Given the description of an element on the screen output the (x, y) to click on. 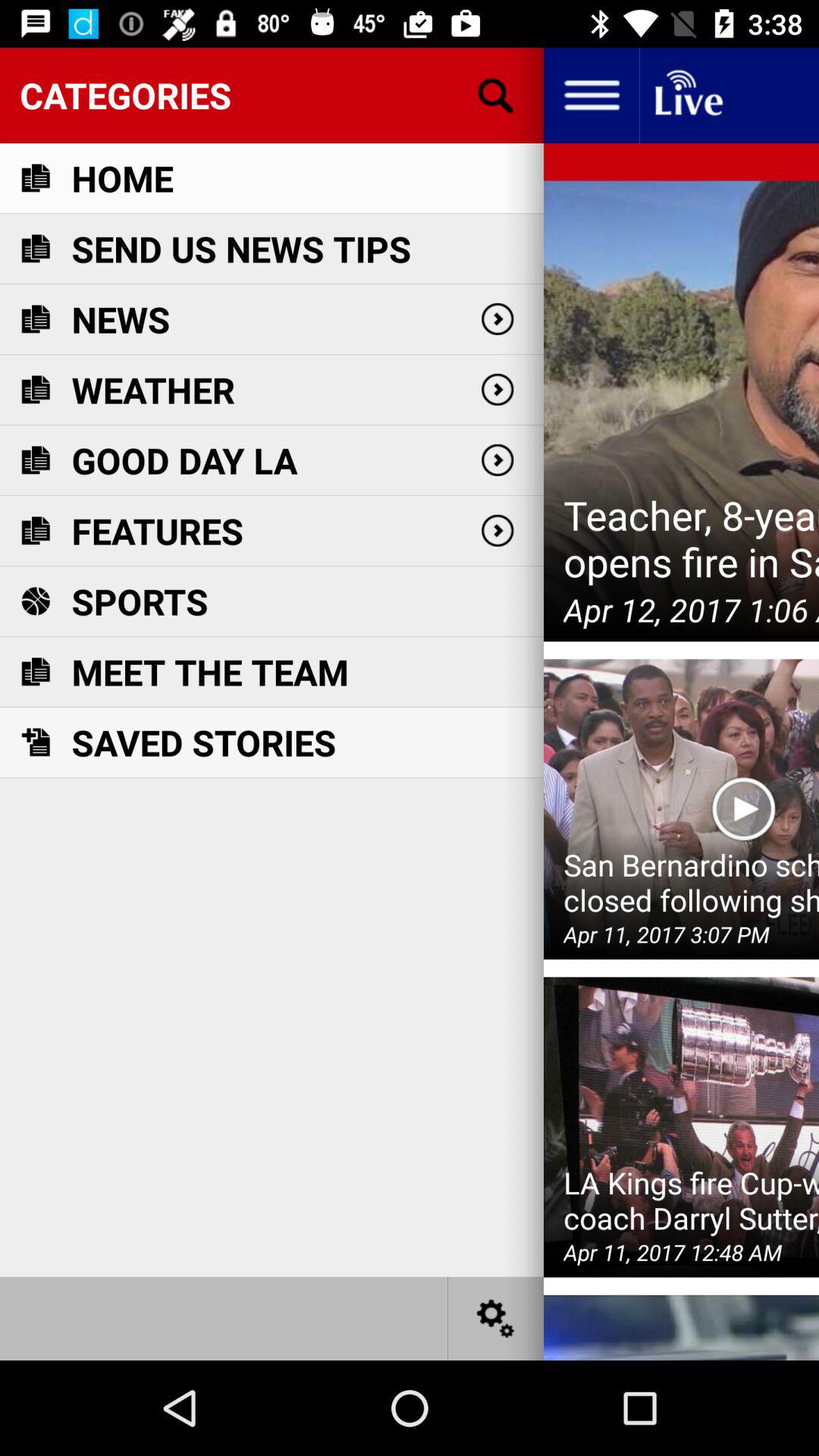
turn on icon to the right of the saved stories item (743, 809)
